Given the description of an element on the screen output the (x, y) to click on. 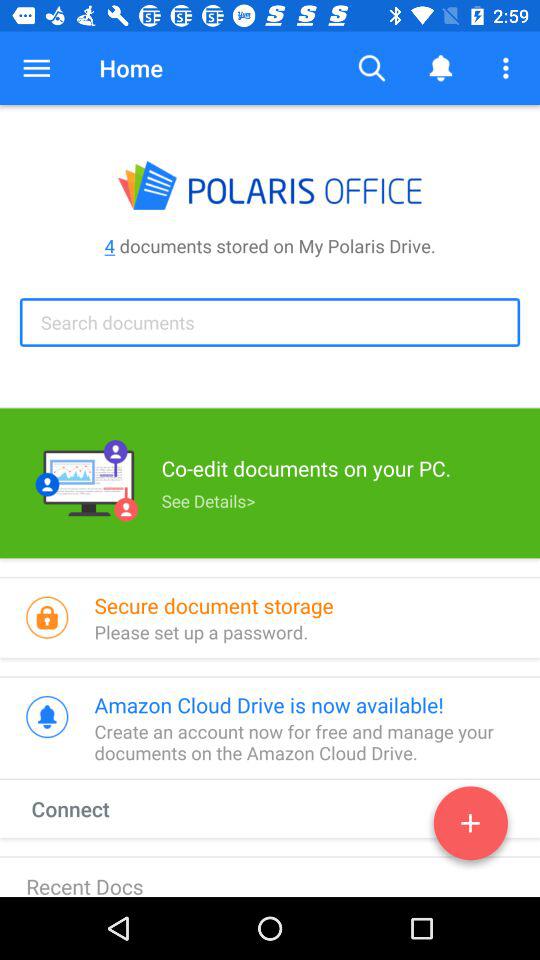
tap the item above the 4 documents stored (36, 68)
